Given the description of an element on the screen output the (x, y) to click on. 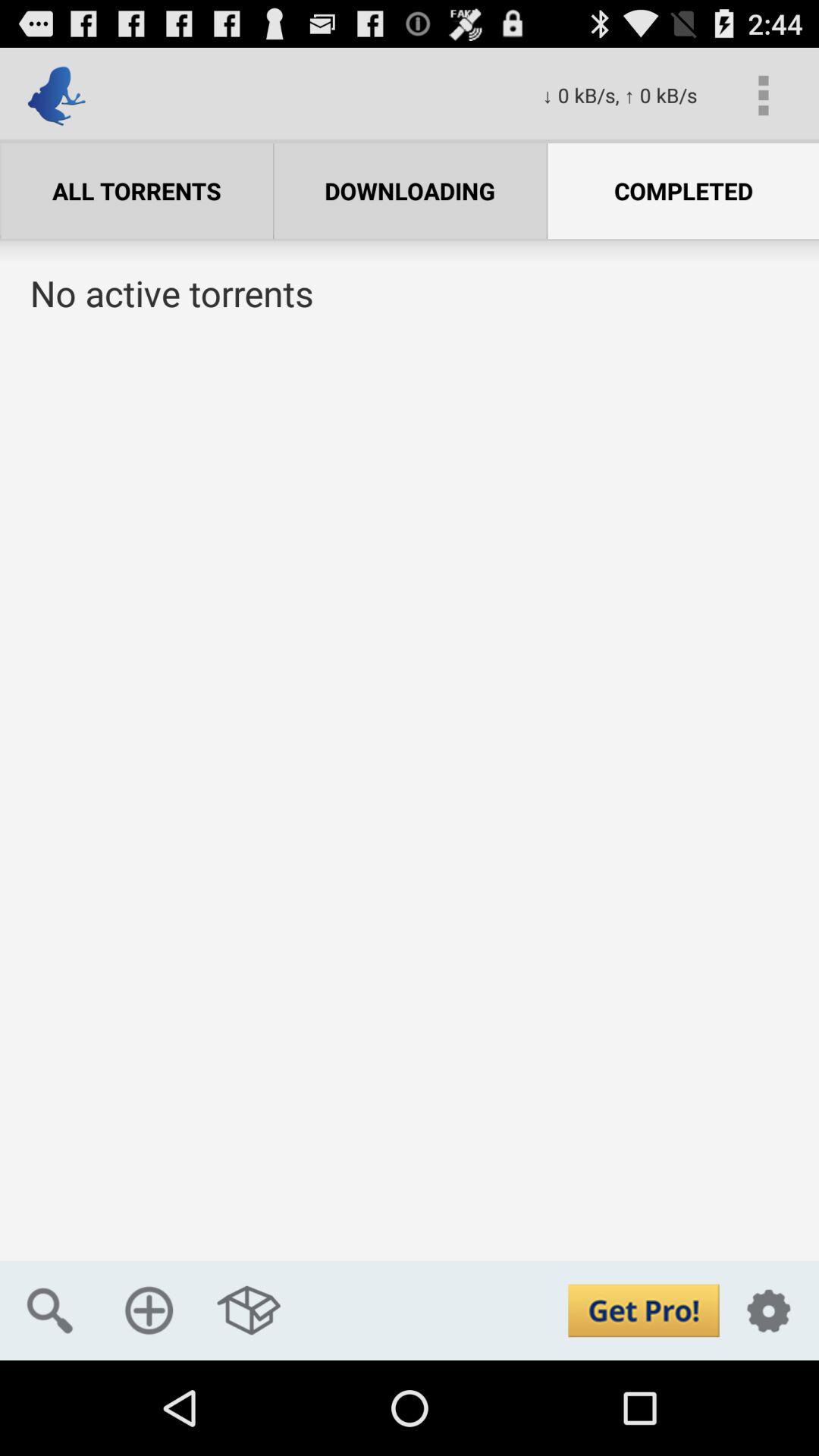
select the app above the completed app (763, 95)
